Given the description of an element on the screen output the (x, y) to click on. 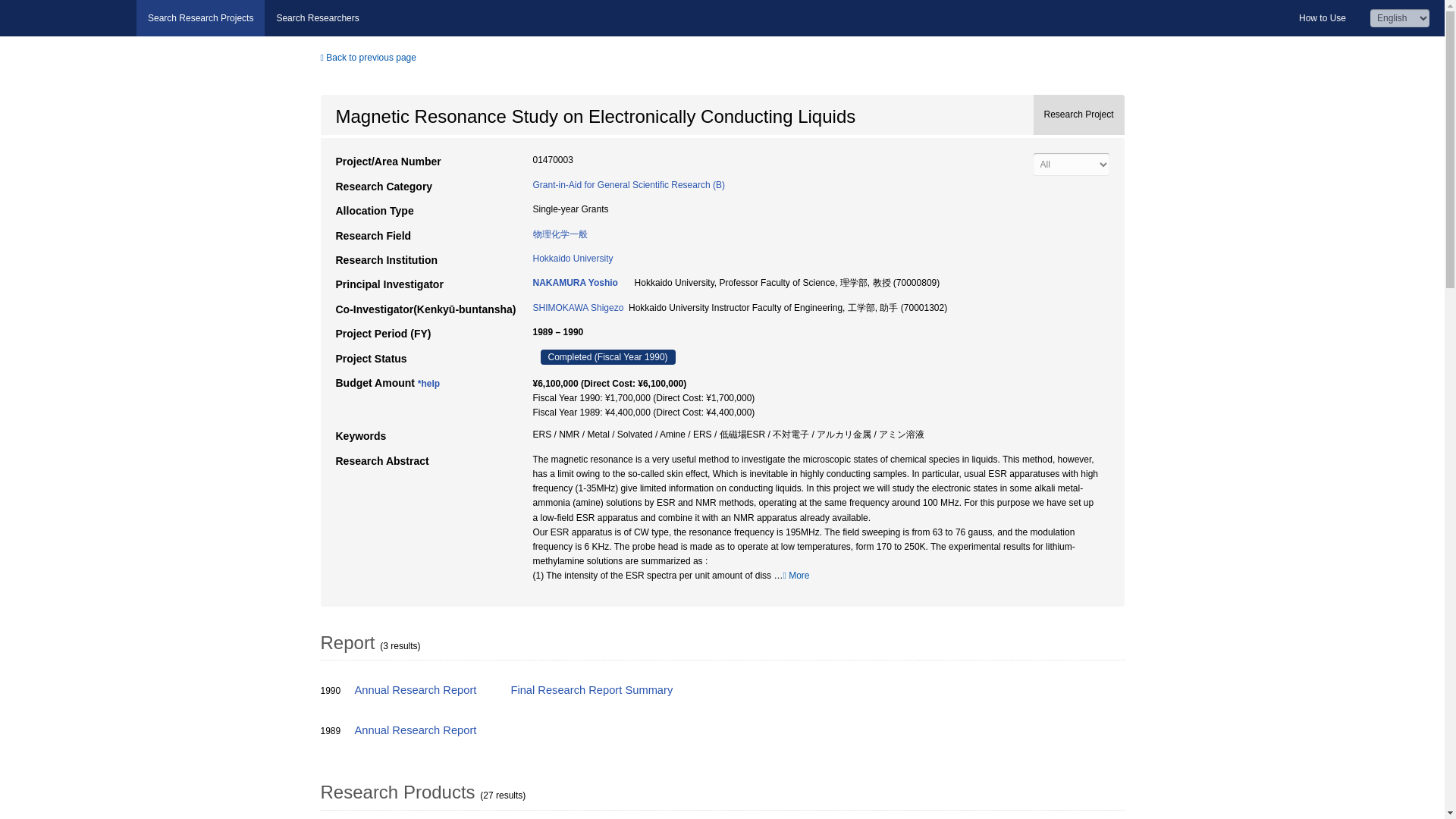
Back to previous page (367, 57)
NAKAMURA Yoshio (574, 282)
How to Use (1321, 18)
Search Researchers (316, 18)
SHIMOKAWA Shigezo (577, 307)
Hokkaido University (572, 258)
Final Research Report Summary (593, 689)
Annual Research Report (417, 689)
Search Research Projects (200, 18)
More (796, 575)
Annual Research Report (417, 729)
